Given the description of an element on the screen output the (x, y) to click on. 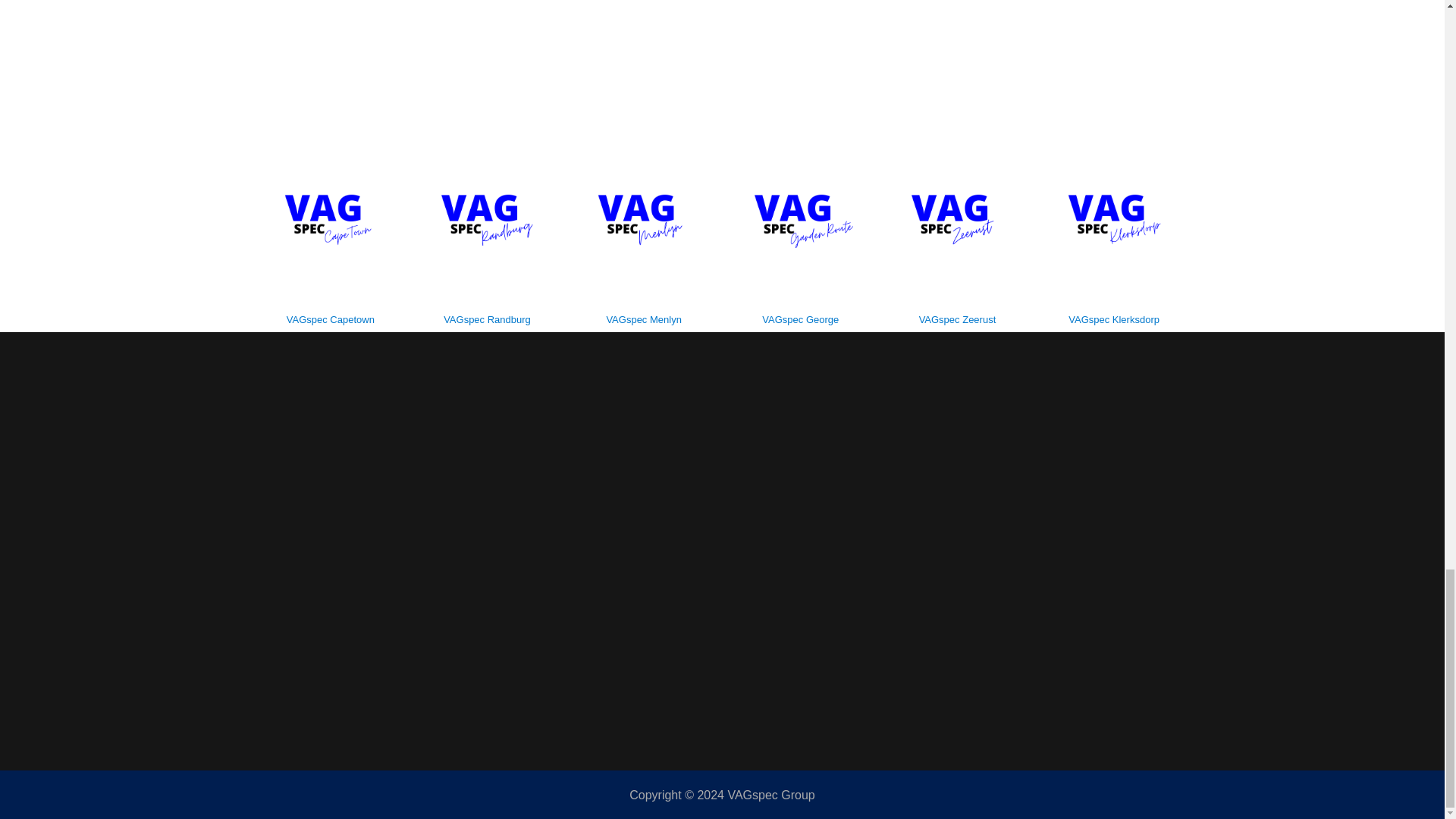
VAGspec Capetown (330, 319)
VAGspec Menlyn (643, 319)
VAGspec Zeerust (956, 319)
VAGspec Klerksdorp (1113, 319)
VAGspec Klerksdorp (1114, 319)
VAGspec Capetown (330, 319)
VAGspec Menlyn (643, 319)
VAGspec George (799, 319)
VAGspec Zeerust (956, 319)
VAGspec George (799, 319)
VAGspec Randburg (487, 319)
VAGspec Randburg (486, 319)
